Given the description of an element on the screen output the (x, y) to click on. 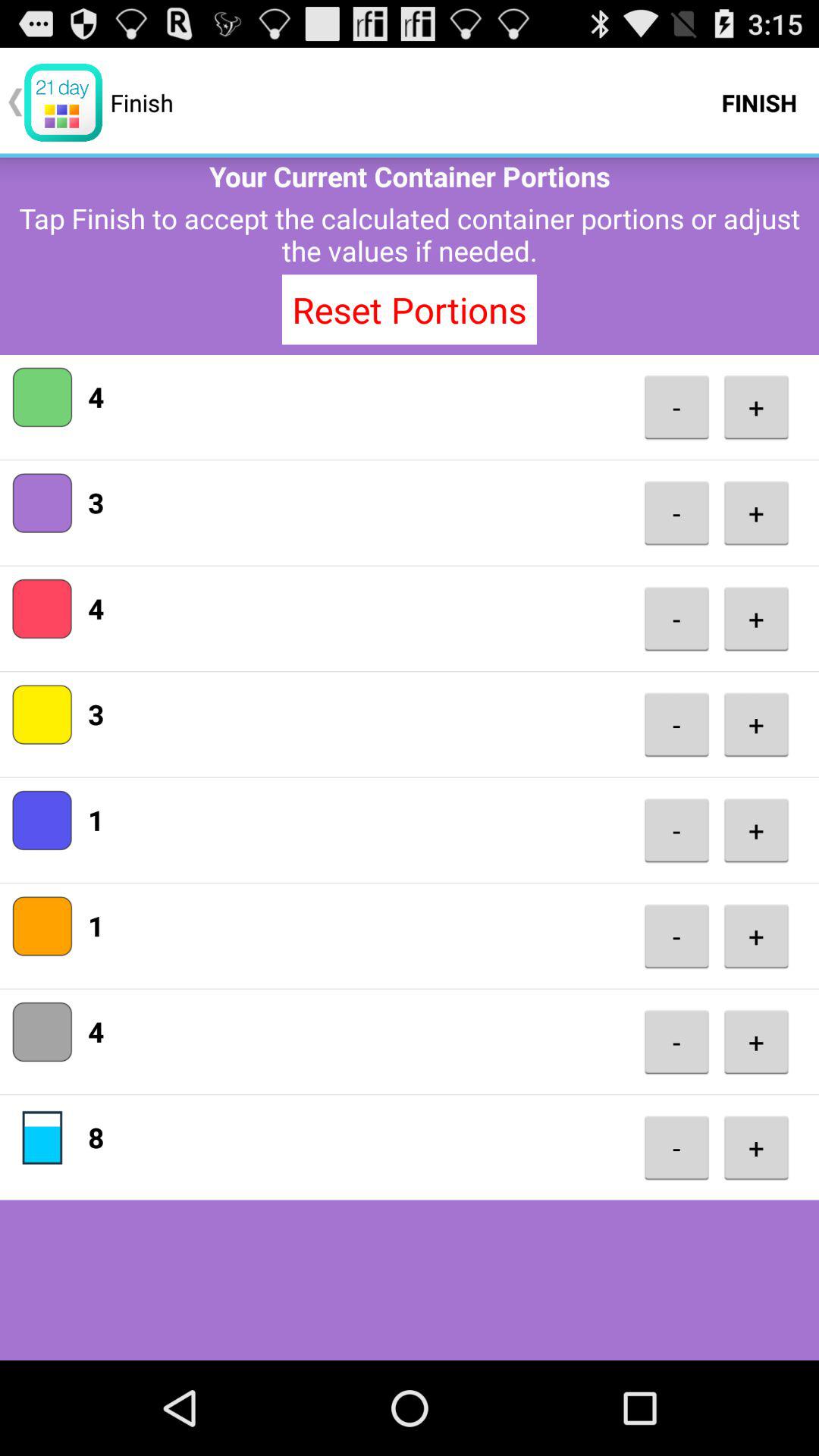
open + (756, 512)
